Given the description of an element on the screen output the (x, y) to click on. 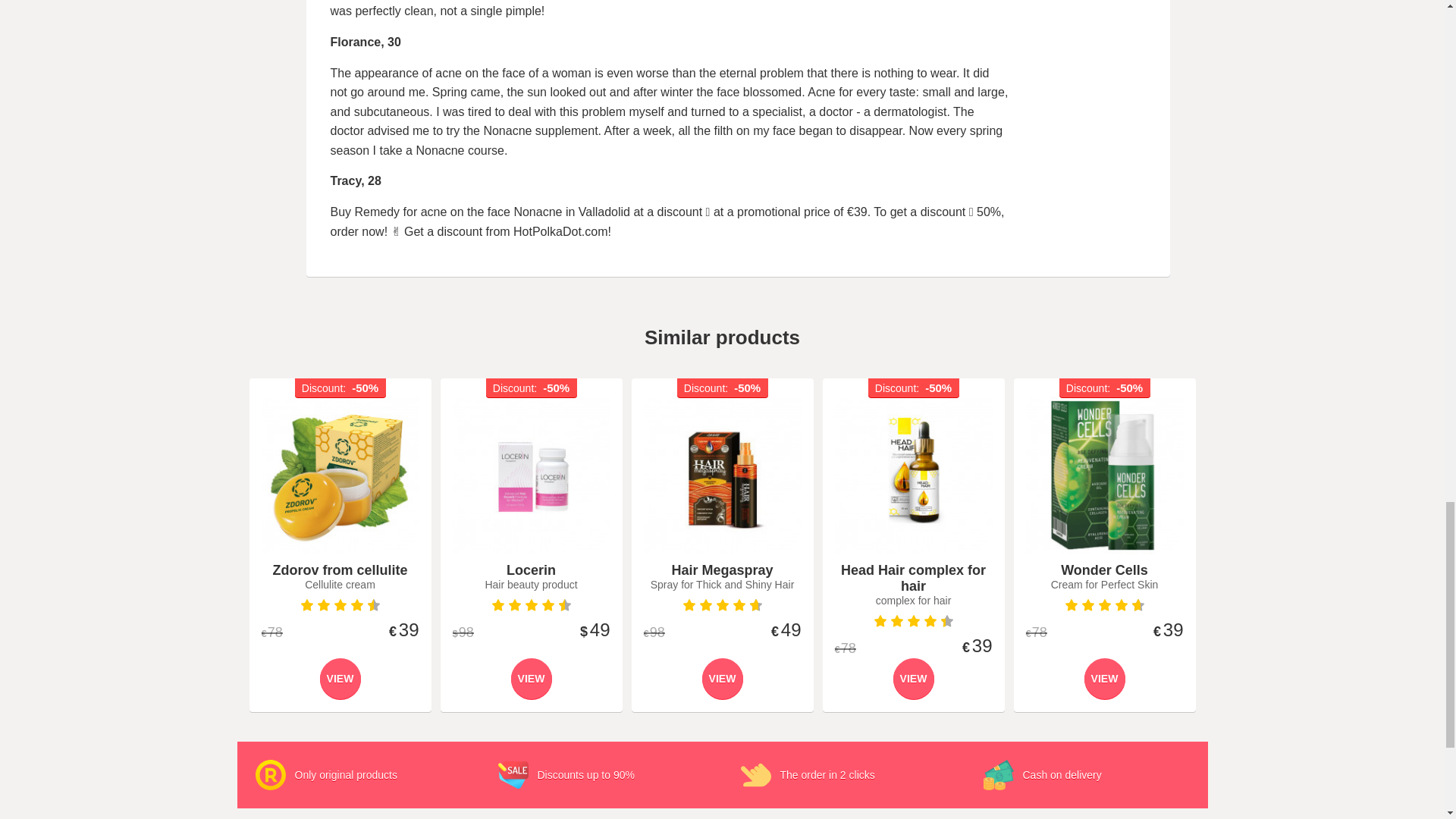
Locerin (530, 475)
Wonder Cells (1103, 475)
Zdorov from cellulite (339, 475)
Head Hair complex for hair (912, 475)
Hair Megaspray (721, 475)
